Given the description of an element on the screen output the (x, y) to click on. 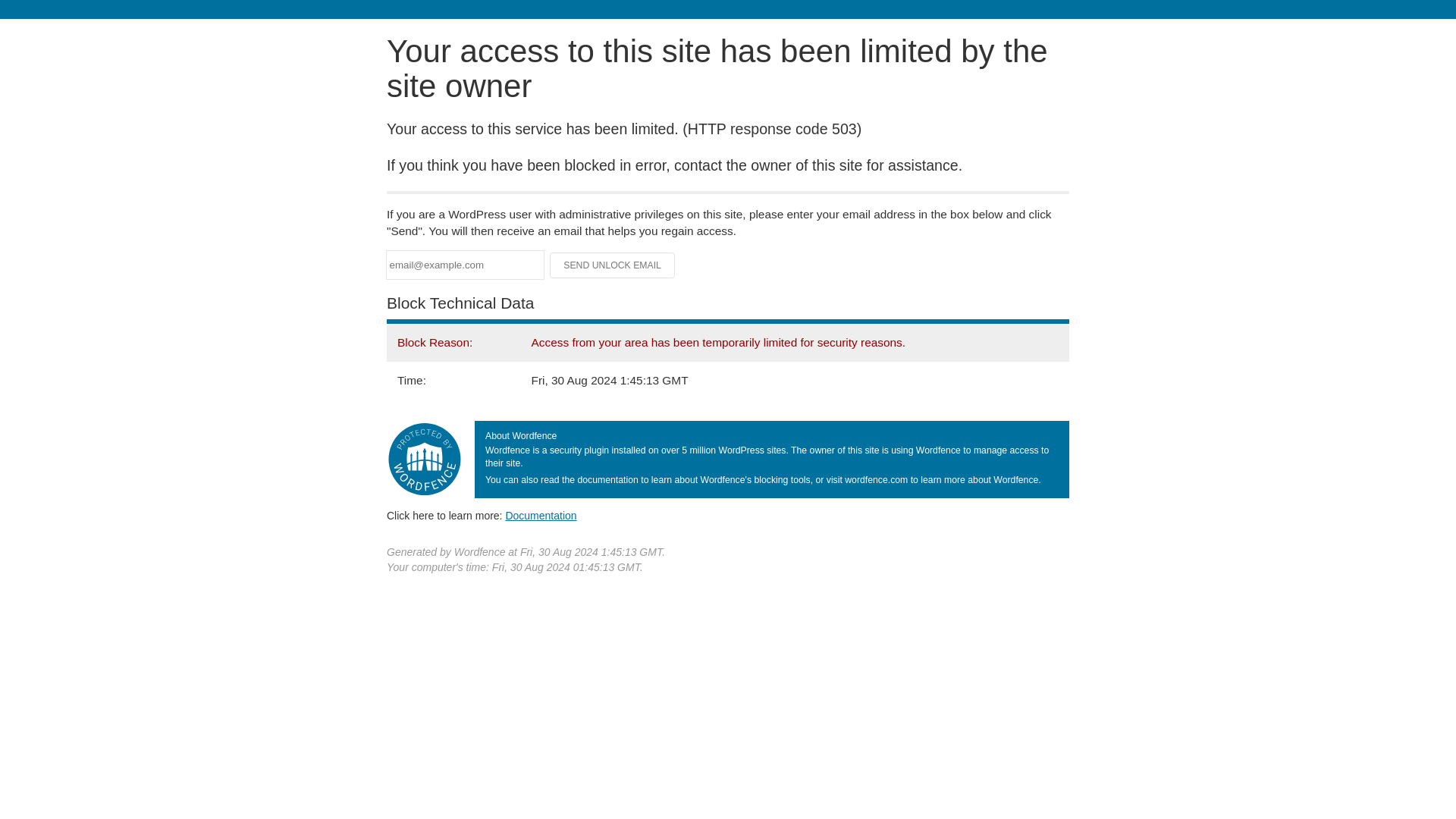
Send Unlock Email (612, 265)
Send Unlock Email (612, 265)
Documentation (540, 515)
